Given the description of an element on the screen output the (x, y) to click on. 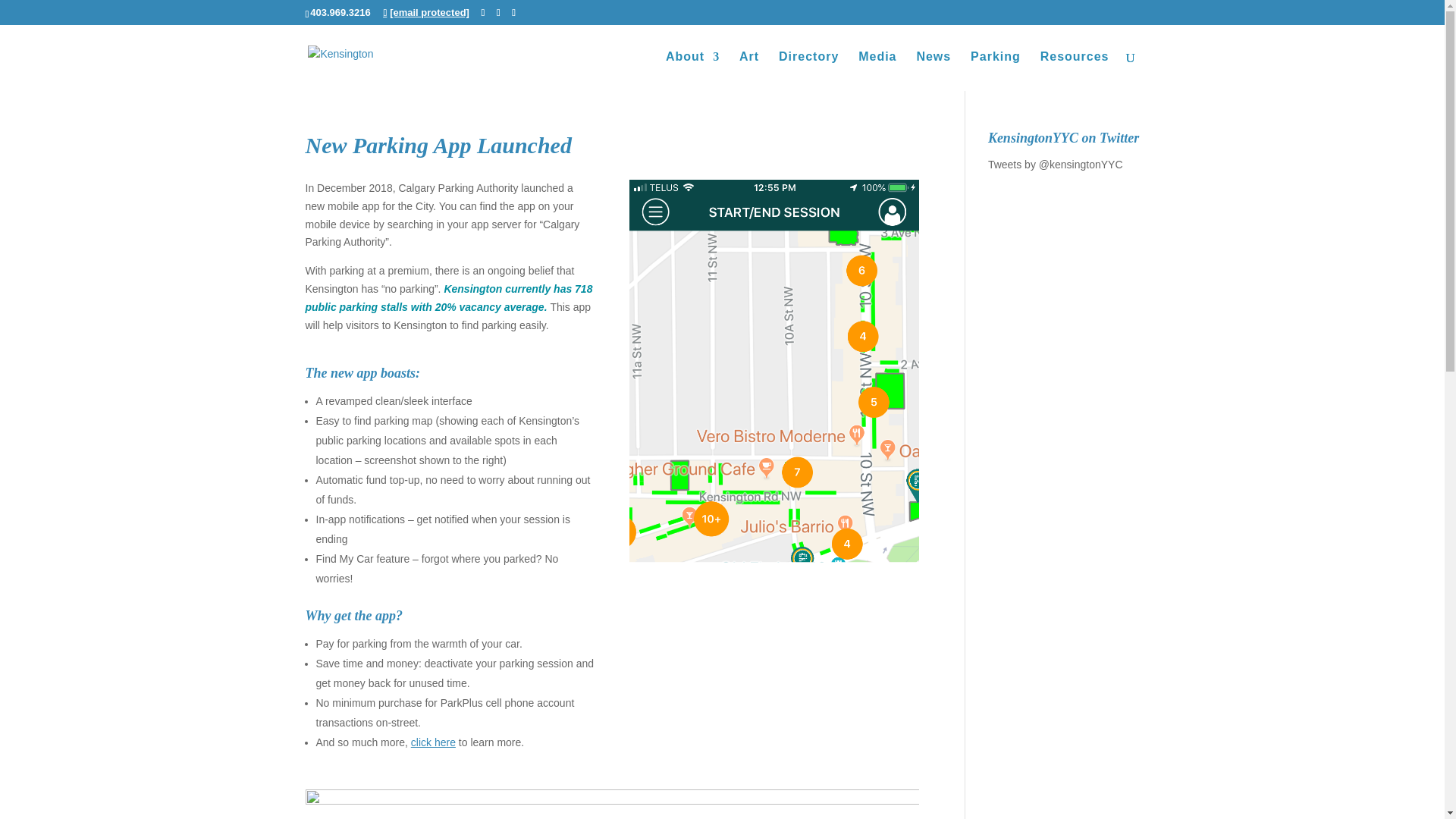
Directory (808, 70)
Resources (1075, 70)
Media (877, 70)
click here (432, 742)
Parking (995, 70)
About (692, 70)
